Given the description of an element on the screen output the (x, y) to click on. 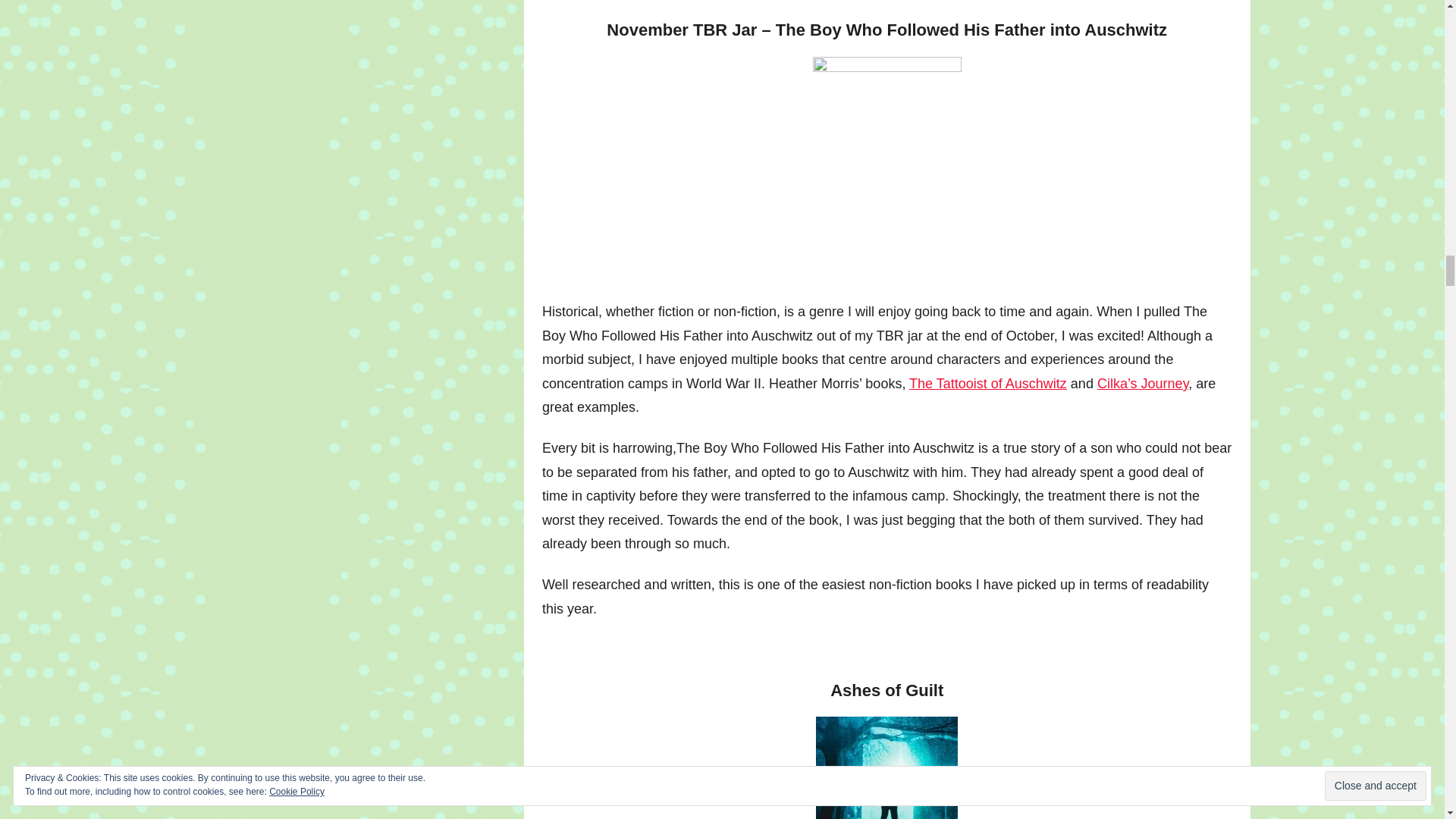
The Tattooist of Auschwitz (987, 383)
